Given the description of an element on the screen output the (x, y) to click on. 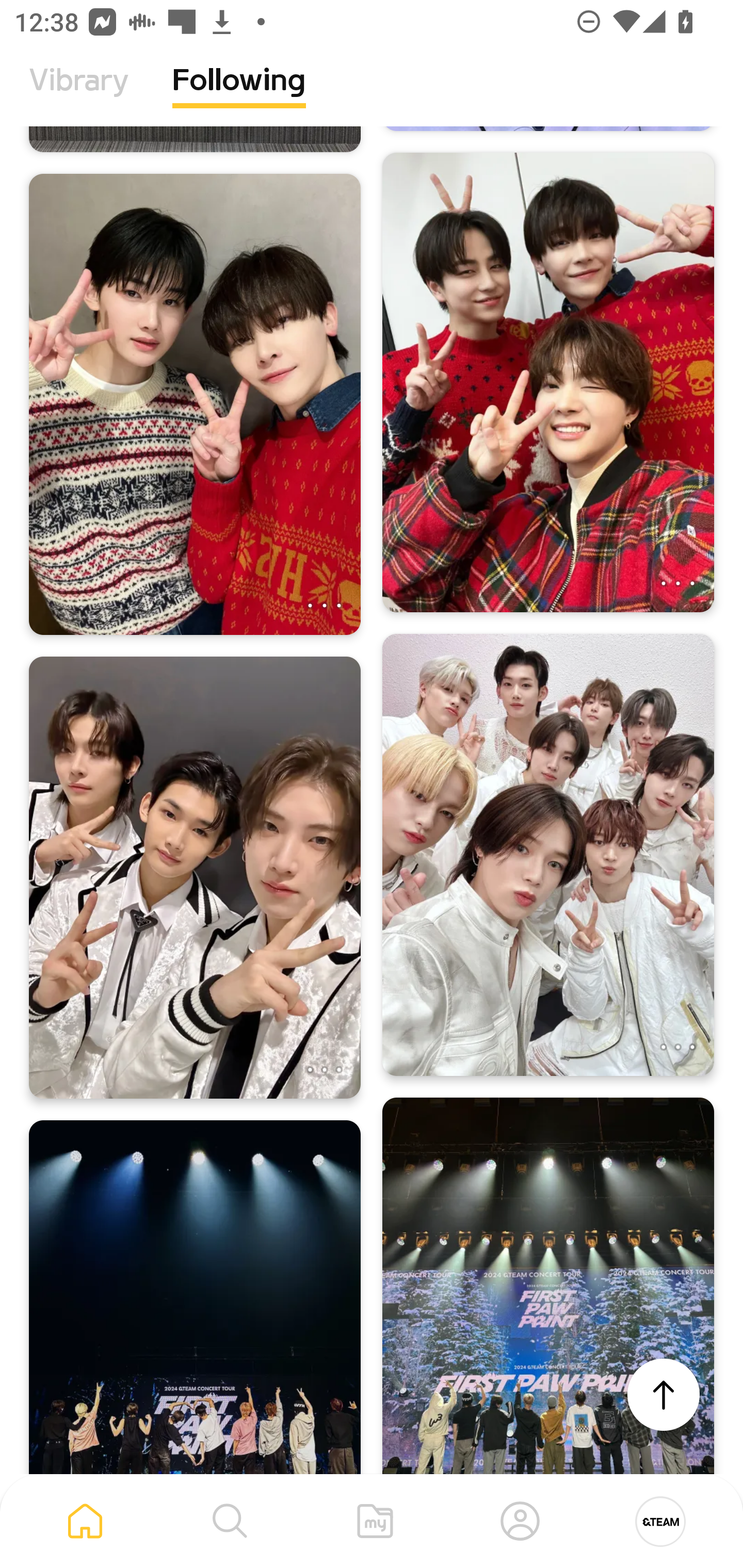
Vibrary (78, 95)
Following (239, 95)
